Given the description of an element on the screen output the (x, y) to click on. 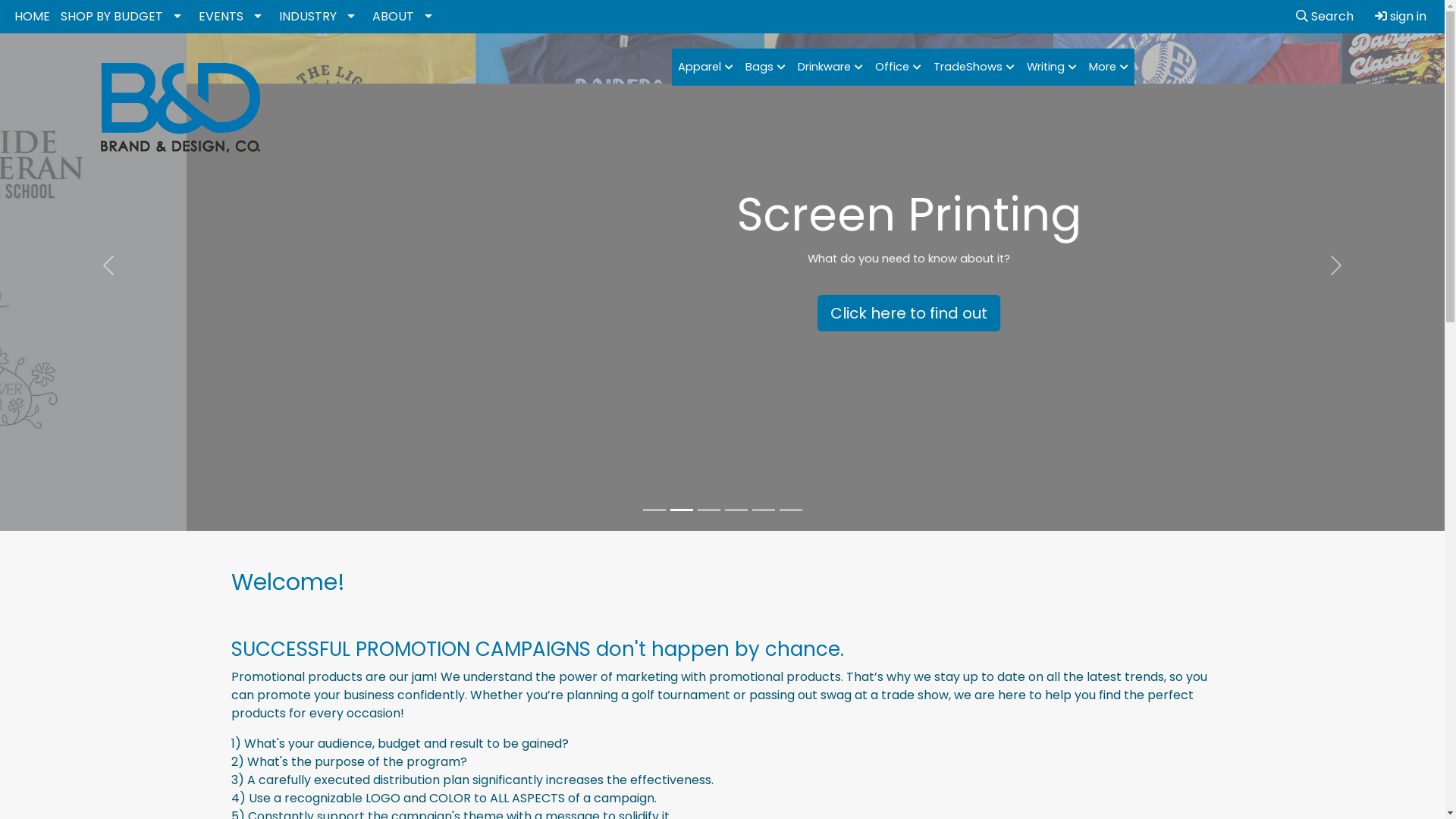
Bags Element type: text (765, 66)
Next Element type: text (1335, 265)
TradeShows Element type: text (973, 66)
EVENTS Element type: text (233, 16)
Apparel Element type: text (705, 66)
Writing Element type: text (1051, 66)
HOME Element type: text (32, 16)
Previous Element type: text (108, 265)
Drinkware Element type: text (830, 66)
More Element type: text (1108, 66)
It's your brand. Our expertise. Element type: text (722, 312)
Search Element type: text (1324, 16)
Office Element type: text (898, 66)
SHOP BY BUDGET Element type: text (124, 16)
ABOUT Element type: text (405, 16)
sign in Element type: text (1400, 16)
INDUSTRY Element type: text (320, 16)
